Given the description of an element on the screen output the (x, y) to click on. 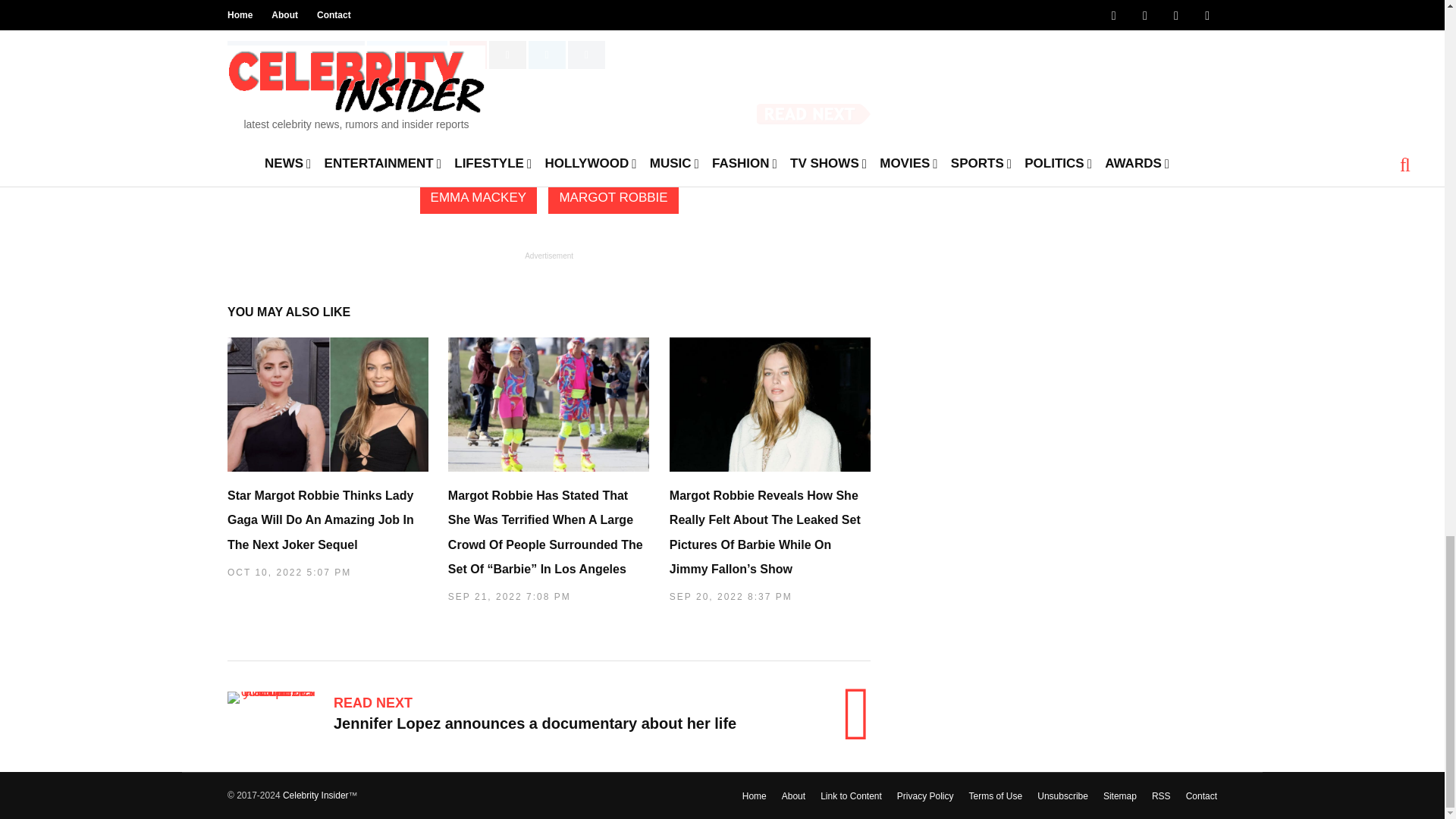
Share On Facebook (296, 54)
Share On Pinterest (467, 54)
Share On Tumblr (586, 54)
Share On Twitter (406, 54)
Share On Reddit (507, 54)
Share On Linkedin (547, 54)
